Given the description of an element on the screen output the (x, y) to click on. 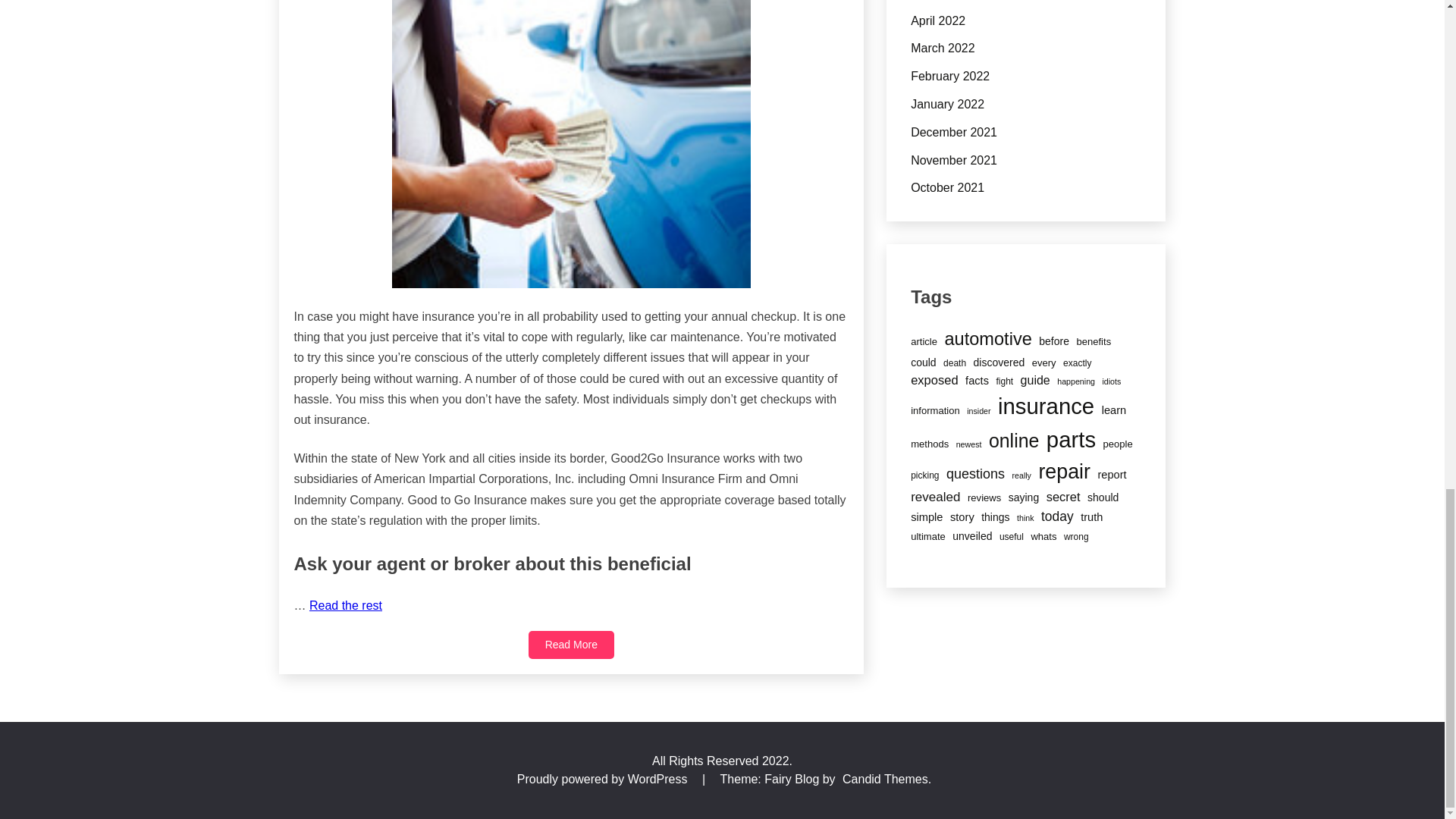
Read More (571, 644)
Read the rest (344, 604)
